Given the description of an element on the screen output the (x, y) to click on. 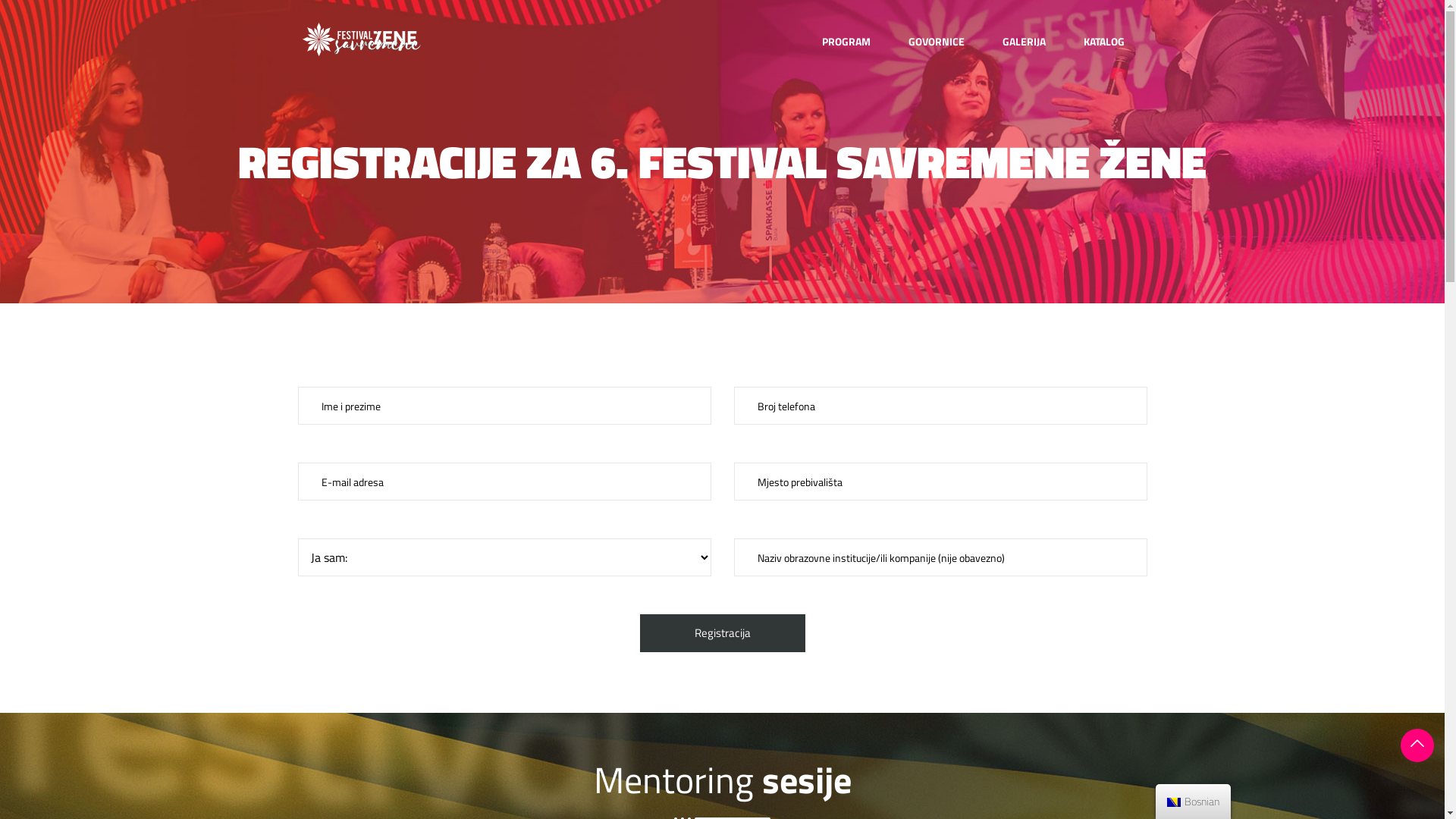
KATALOG Element type: text (1103, 41)
GALERIJA Element type: text (1022, 41)
PROGRAM Element type: text (845, 41)
Bosnian Element type: hover (1173, 801)
GOVORNICE Element type: text (935, 41)
Registracija Element type: text (722, 633)
